Given the description of an element on the screen output the (x, y) to click on. 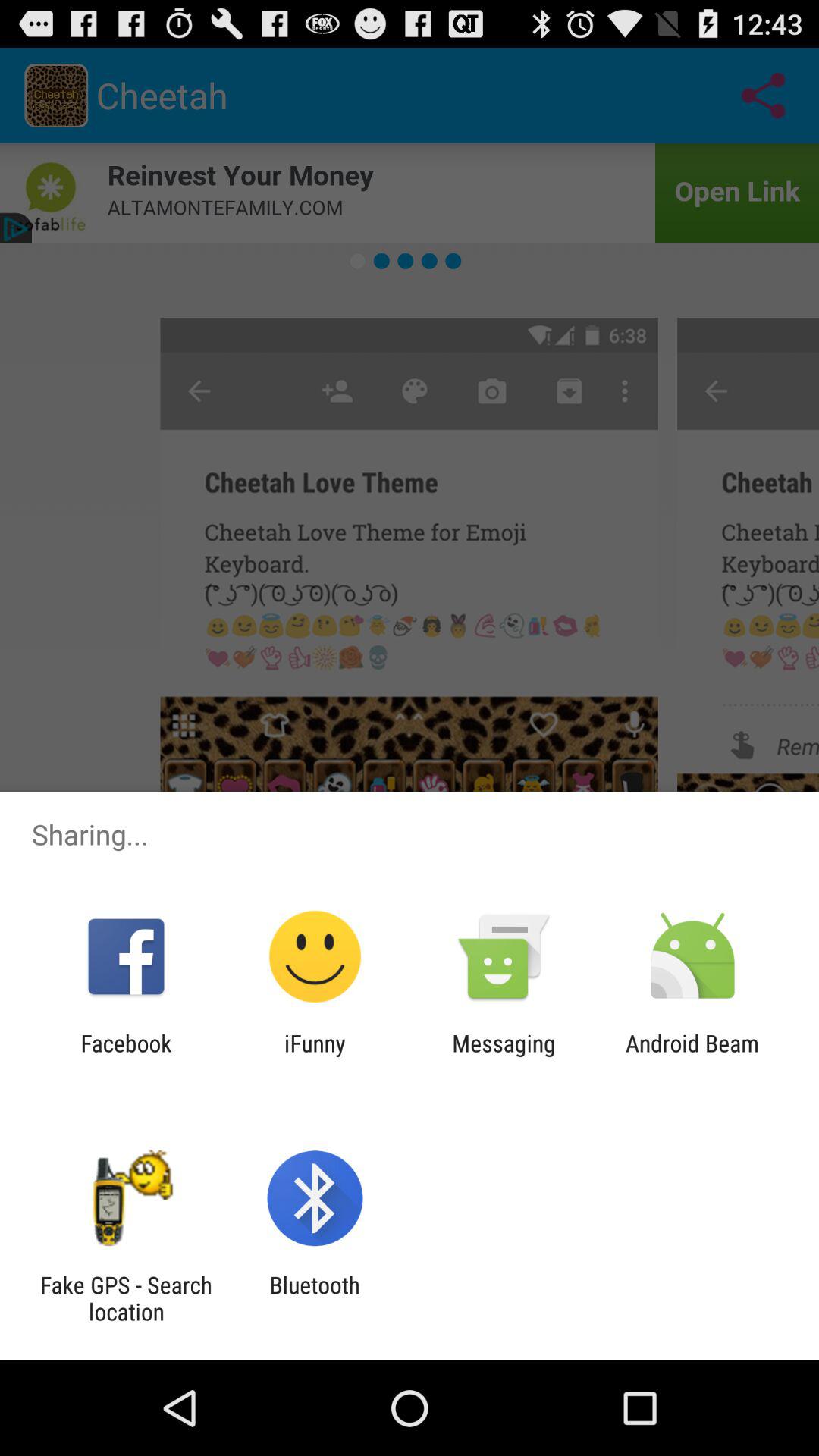
turn off the icon next to the bluetooth item (125, 1298)
